Given the description of an element on the screen output the (x, y) to click on. 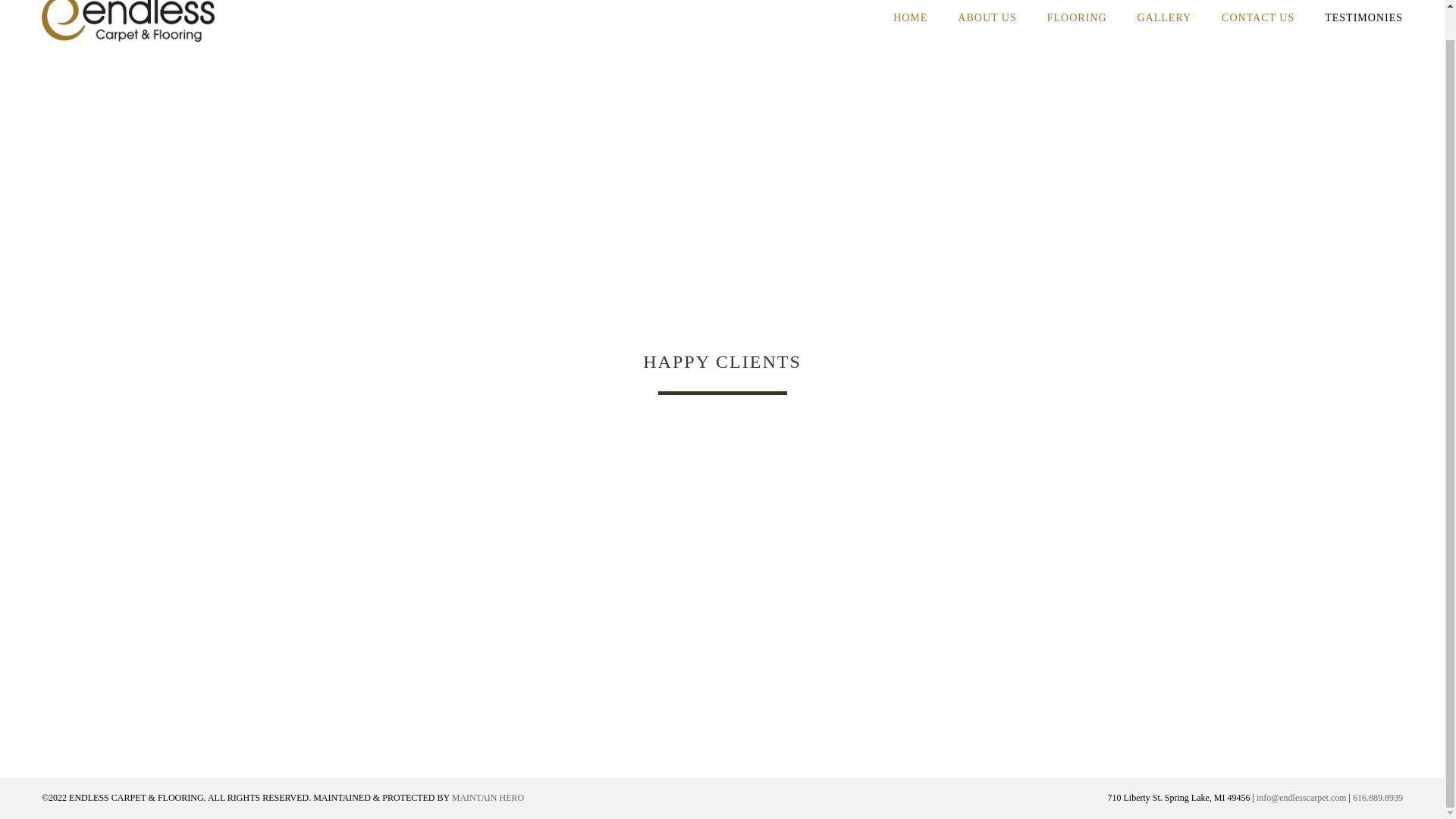
CONTACT US (1257, 33)
TESTIMONIES (1355, 33)
MAINTAIN HERO (487, 797)
616.889.8939 (1377, 797)
ABOUT US (986, 33)
FLOORING (1077, 33)
GALLERY (1164, 33)
HOME (909, 33)
